Given the description of an element on the screen output the (x, y) to click on. 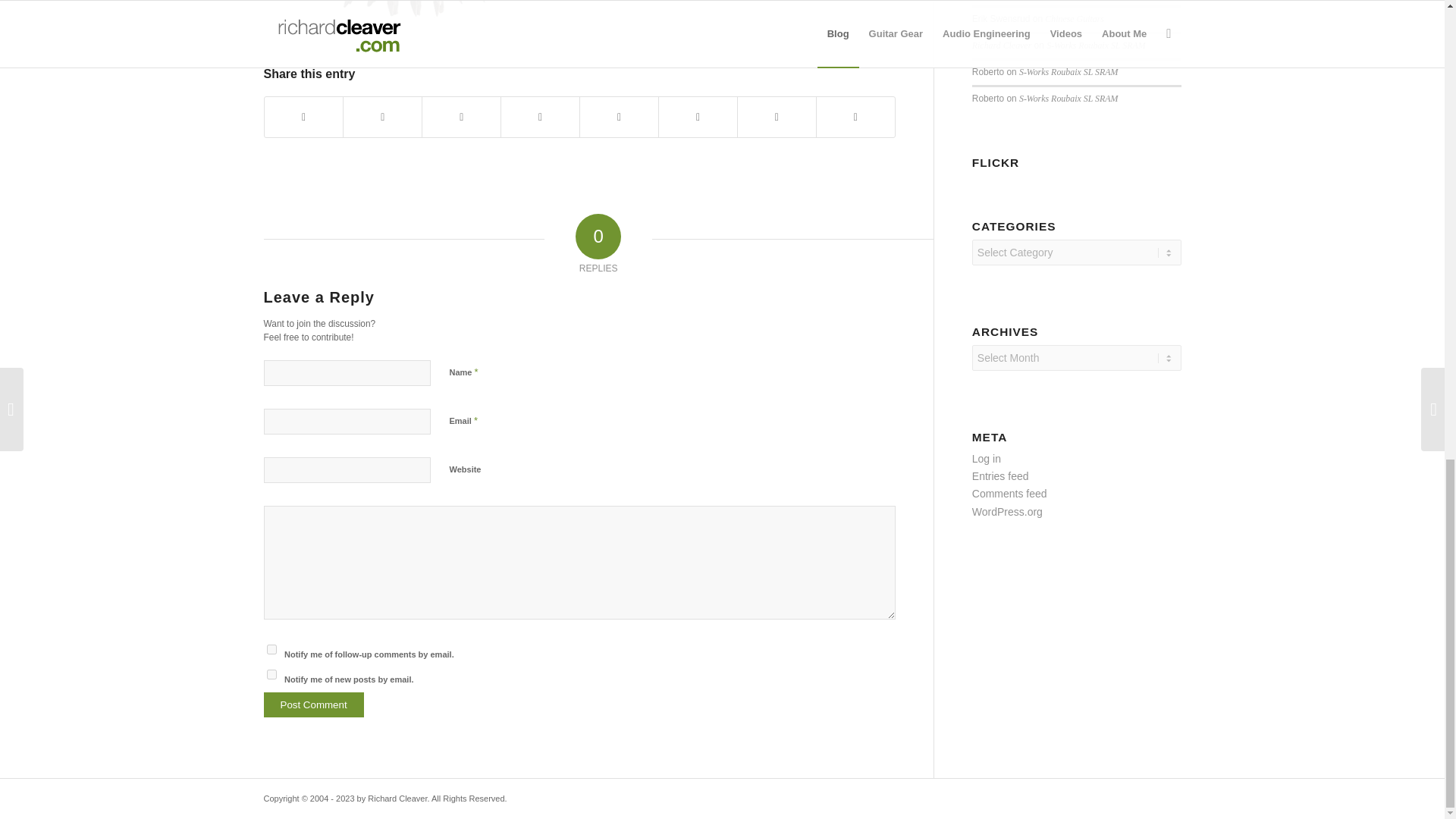
Post Comment (313, 704)
Post Comment (313, 704)
S-Works Roubaix SL SRAM (1068, 98)
S-Works Roubaix SL SRAM (1068, 71)
subscribe (271, 649)
Richard Cleaver (1001, 45)
subscribe (271, 674)
Chinese Guitars (1074, 18)
S-Works Roubaix SL SRAM (1095, 45)
spikes (415, 15)
